Given the description of an element on the screen output the (x, y) to click on. 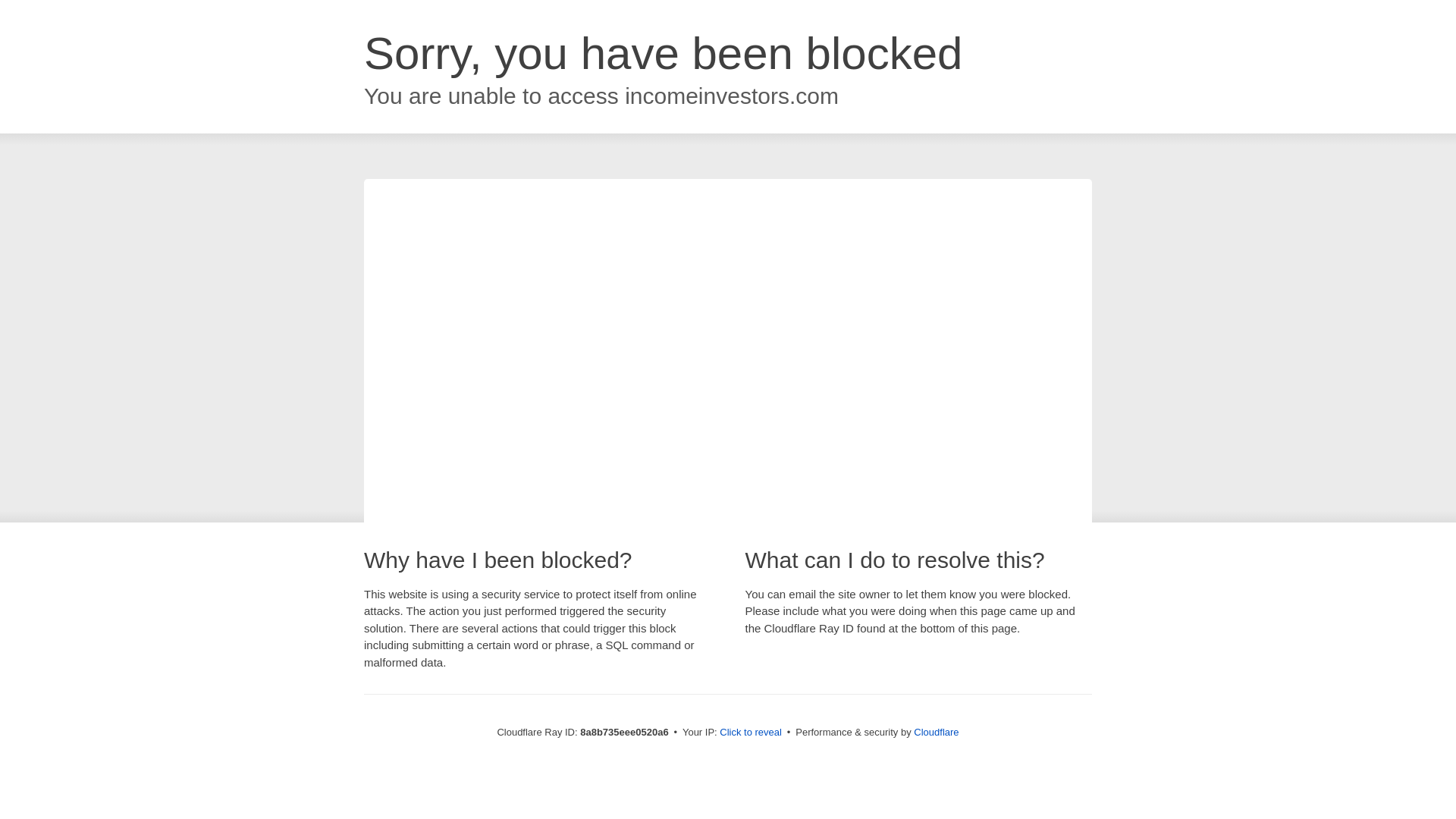
Click to reveal (750, 732)
Cloudflare (936, 731)
